Given the description of an element on the screen output the (x, y) to click on. 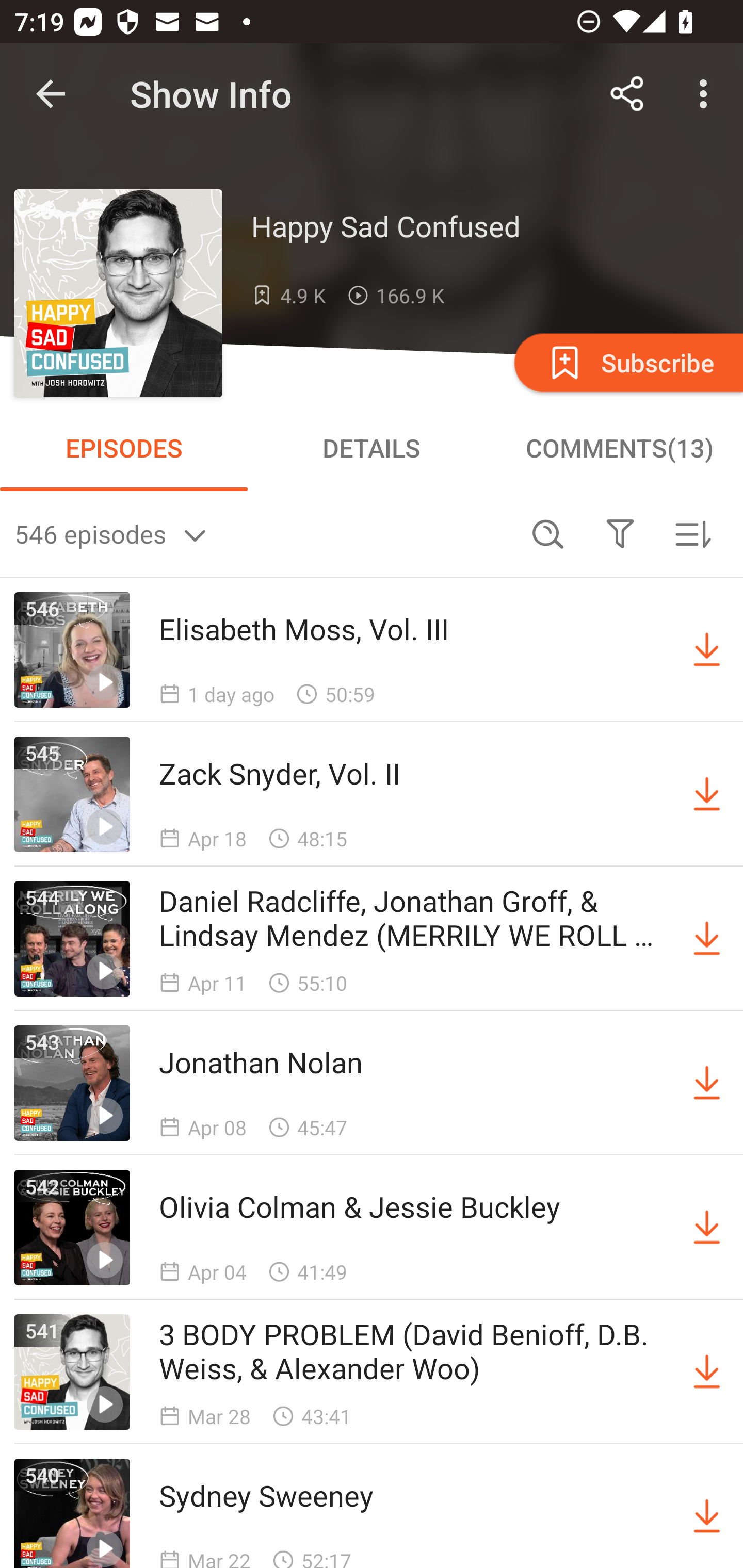
Navigate up (50, 93)
Share (626, 93)
More options (706, 93)
Subscribe (627, 361)
EPISODES (123, 447)
DETAILS (371, 447)
COMMENTS(13) (619, 447)
546 episodes  (262, 533)
 Search (547, 533)
 (619, 533)
 Sorted by newest first (692, 533)
Download (706, 649)
Download (706, 793)
Download (706, 939)
Download (706, 1083)
Download (706, 1227)
Download (706, 1371)
Download (706, 1513)
